Given the description of an element on the screen output the (x, y) to click on. 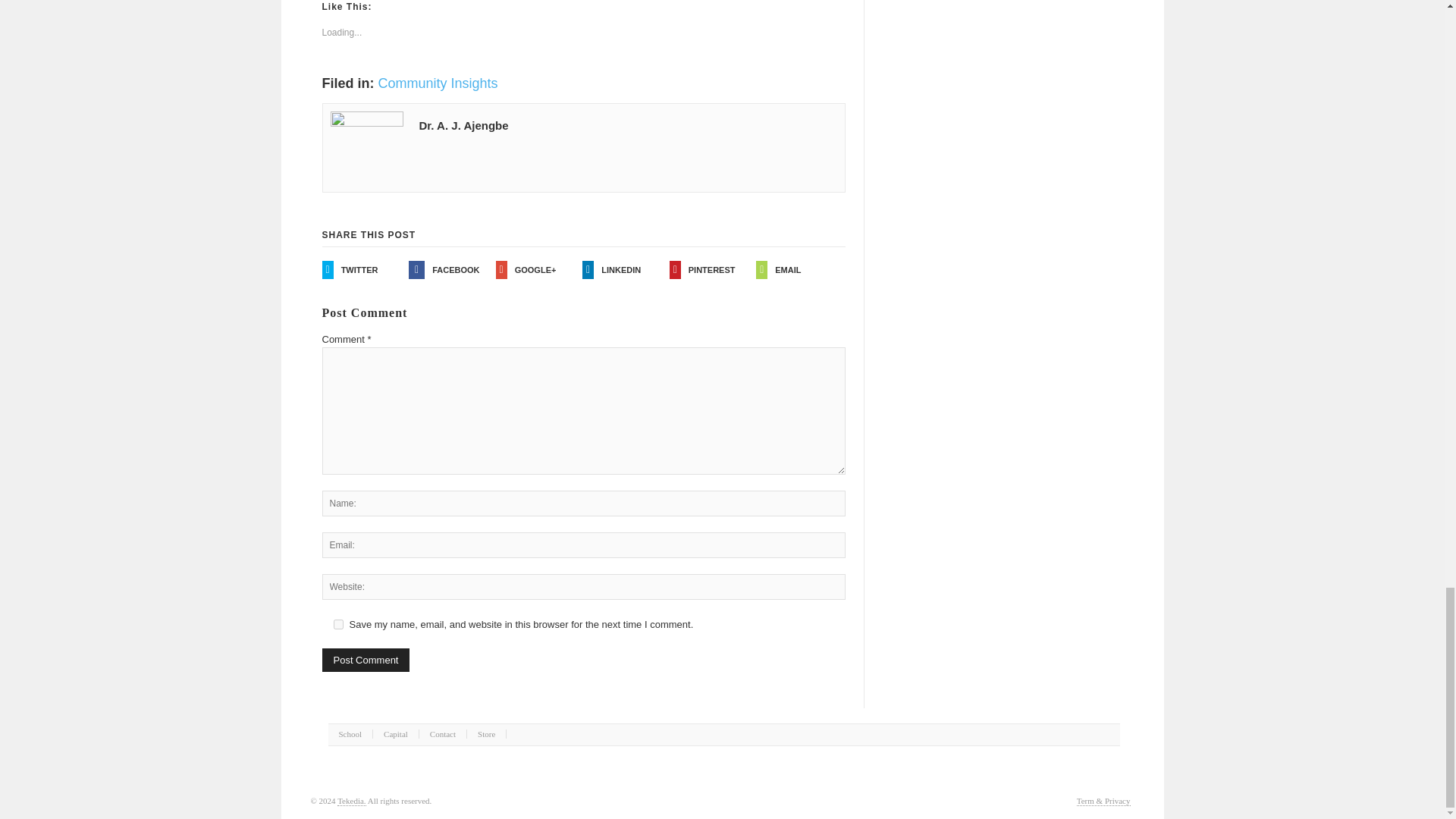
Post Comment (365, 659)
yes (338, 624)
